Given the description of an element on the screen output the (x, y) to click on. 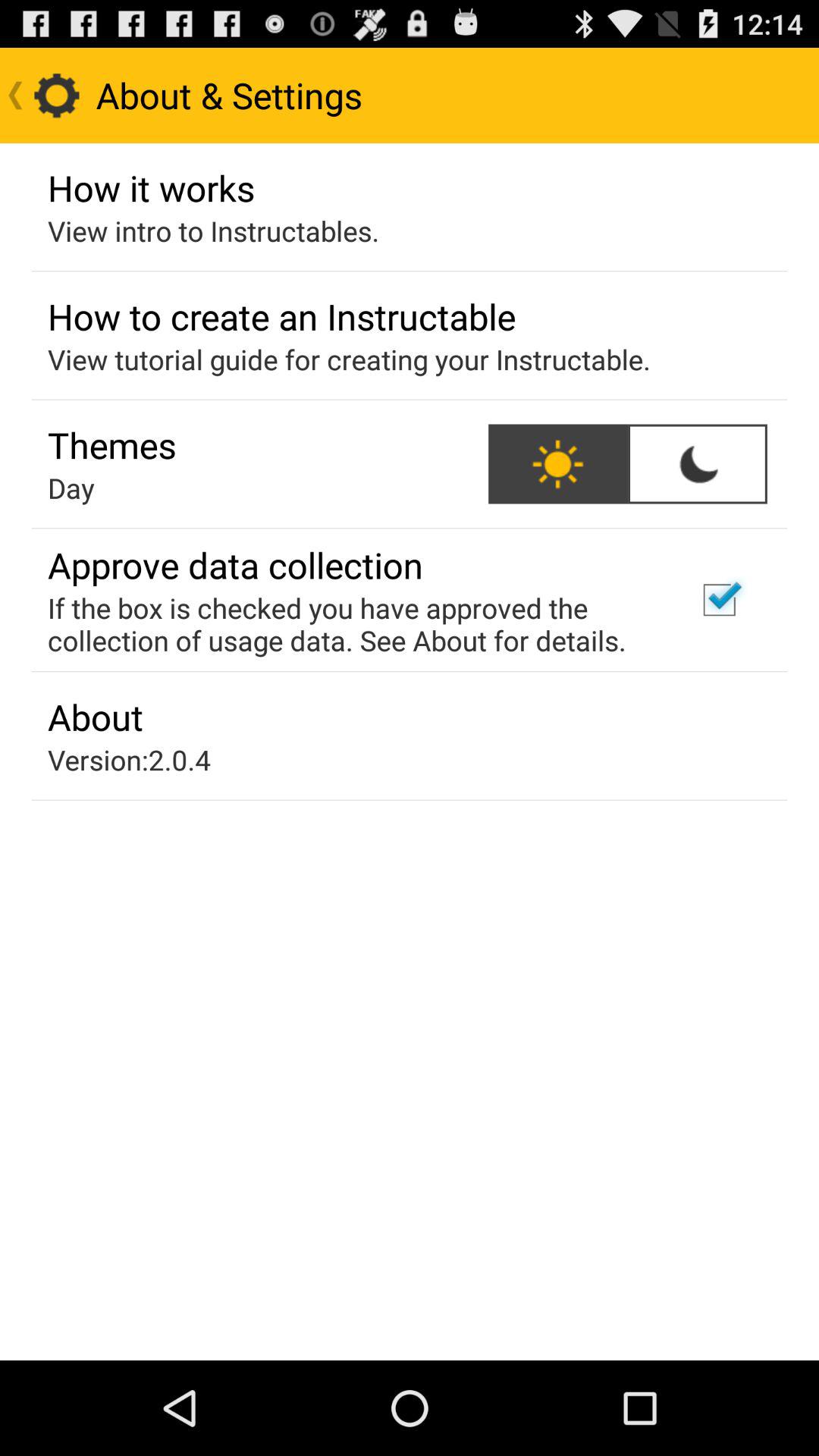
press the icon above how to create app (213, 230)
